Given the description of an element on the screen output the (x, y) to click on. 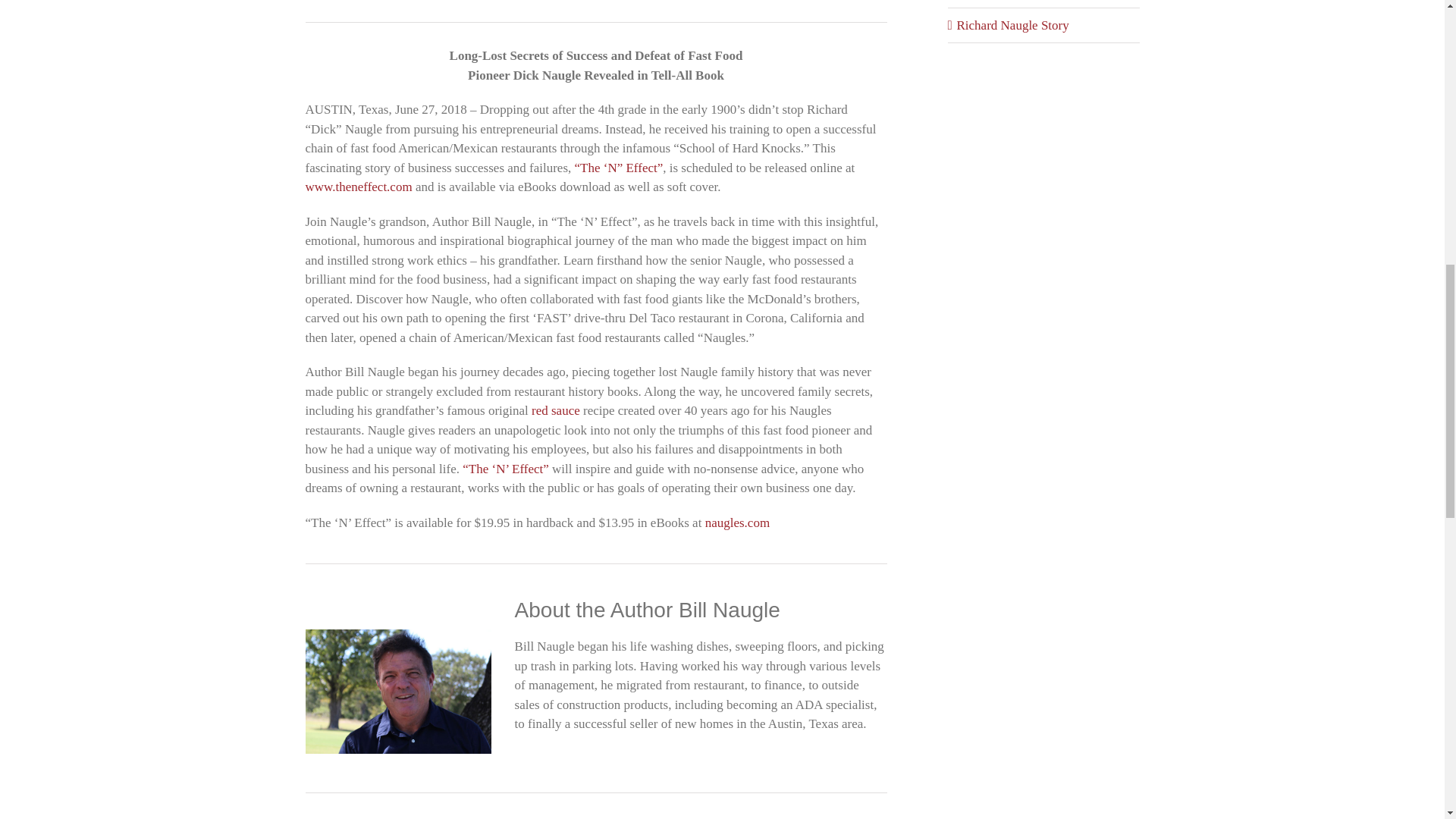
www.theneffect.com (358, 186)
naugles.com (737, 522)
red sauce (555, 410)
